Given the description of an element on the screen output the (x, y) to click on. 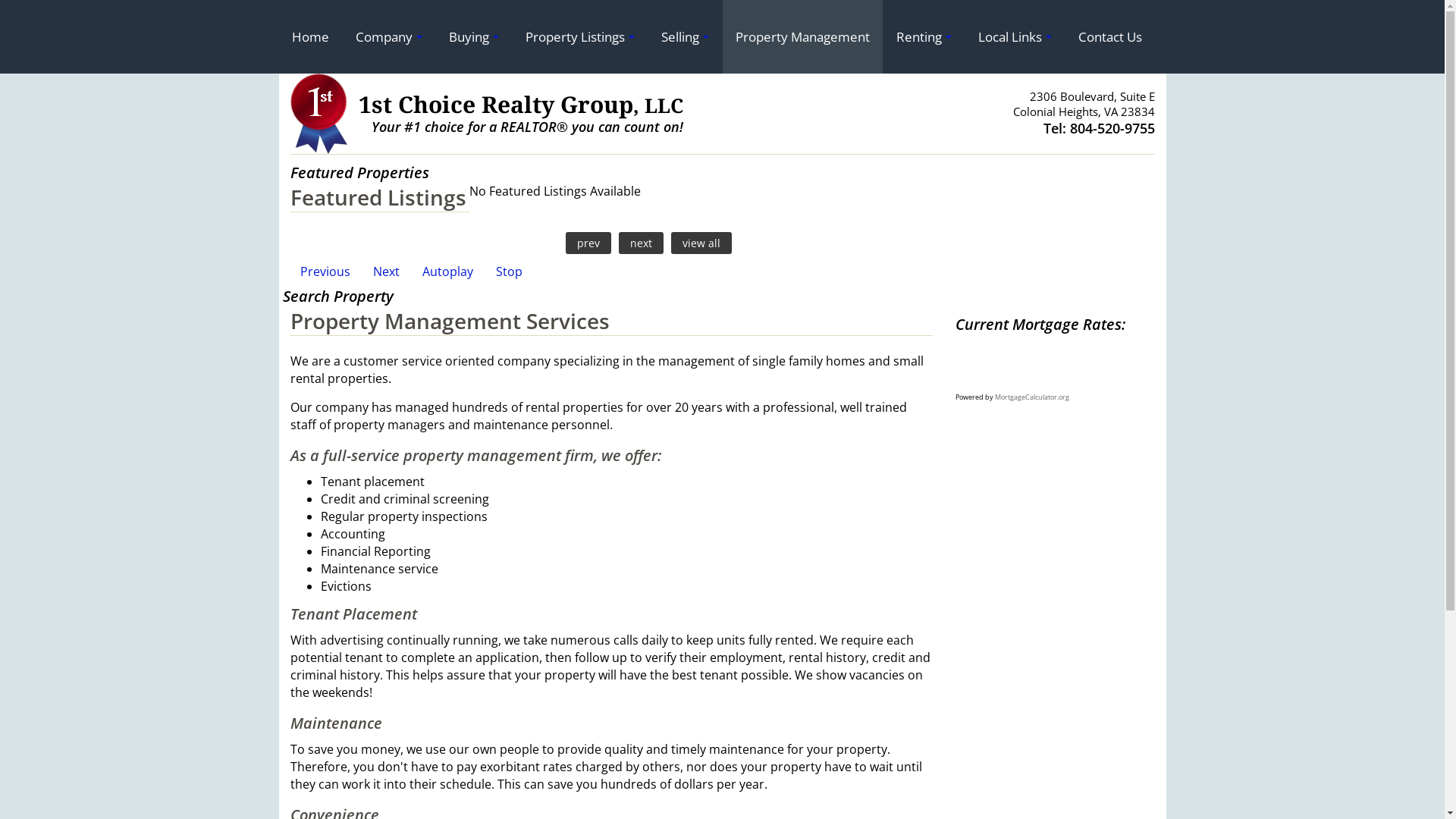
Previous Element type: text (324, 271)
Contact Us Element type: text (1109, 36)
Autoplay Element type: text (447, 271)
Stop Element type: text (508, 271)
Property Management Element type: text (801, 36)
MortgageCalculator.org Element type: text (1031, 396)
Next Element type: text (385, 271)
Home Element type: text (310, 36)
view all Element type: text (701, 242)
